Given the description of an element on the screen output the (x, y) to click on. 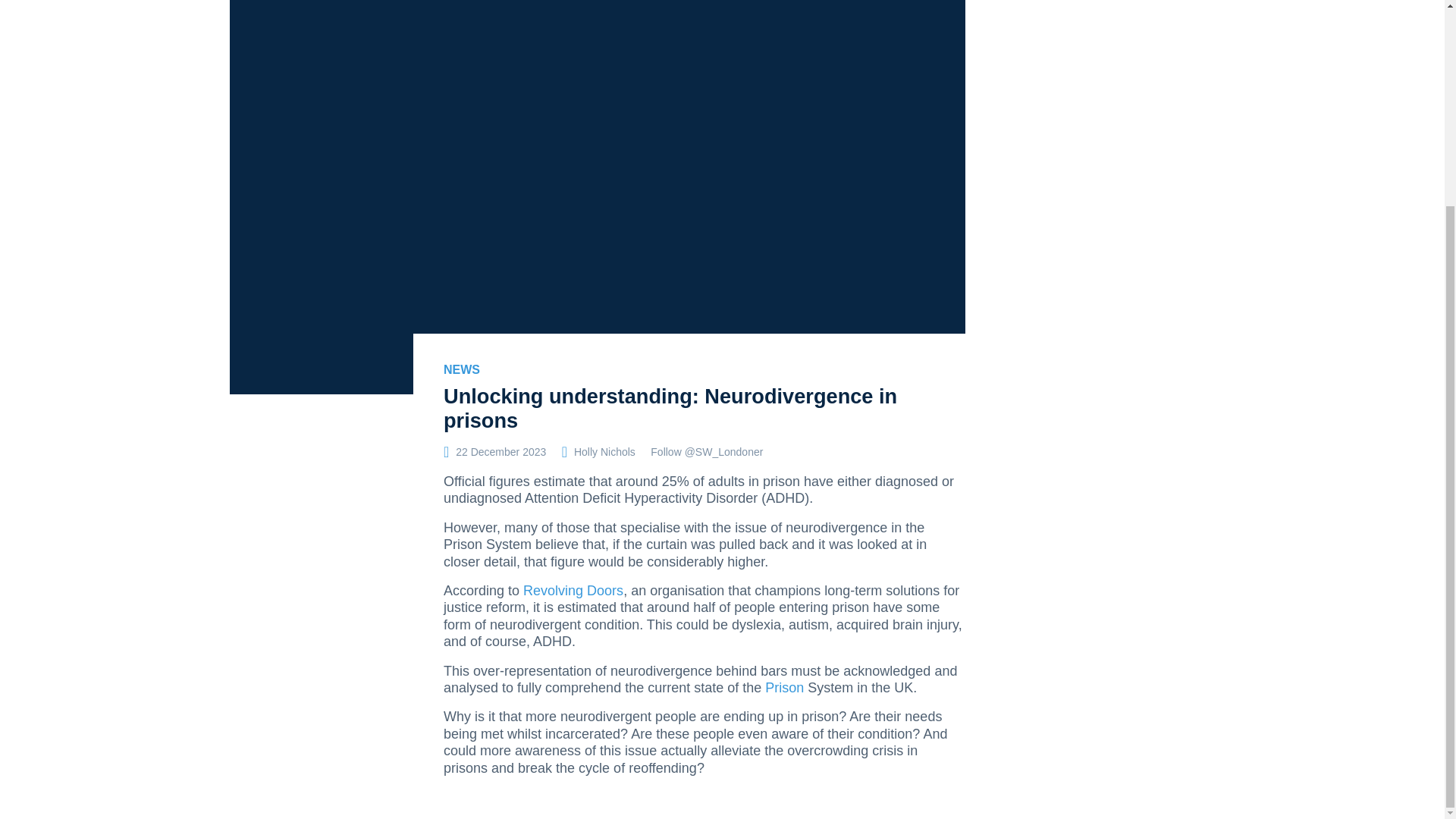
Holly Nichols (603, 451)
Prison (786, 687)
Revolving Doors (572, 590)
NEWS (462, 369)
